Given the description of an element on the screen output the (x, y) to click on. 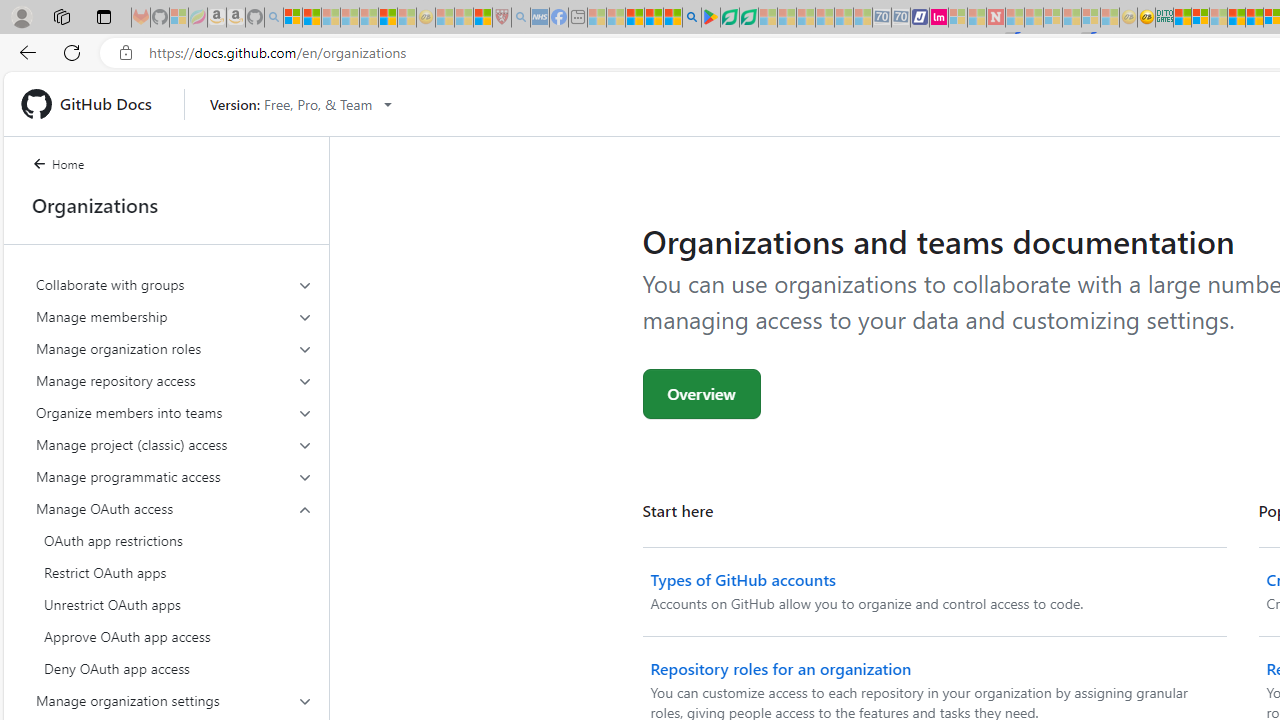
Pets - MSN (654, 17)
Terms of Use Agreement (729, 17)
Manage membership (174, 316)
Jobs - lastminute.com Investor Portal (939, 17)
Overview (701, 393)
Manage repository access (174, 380)
Restrict OAuth apps (174, 572)
Expert Portfolios (1236, 17)
